Given the description of an element on the screen output the (x, y) to click on. 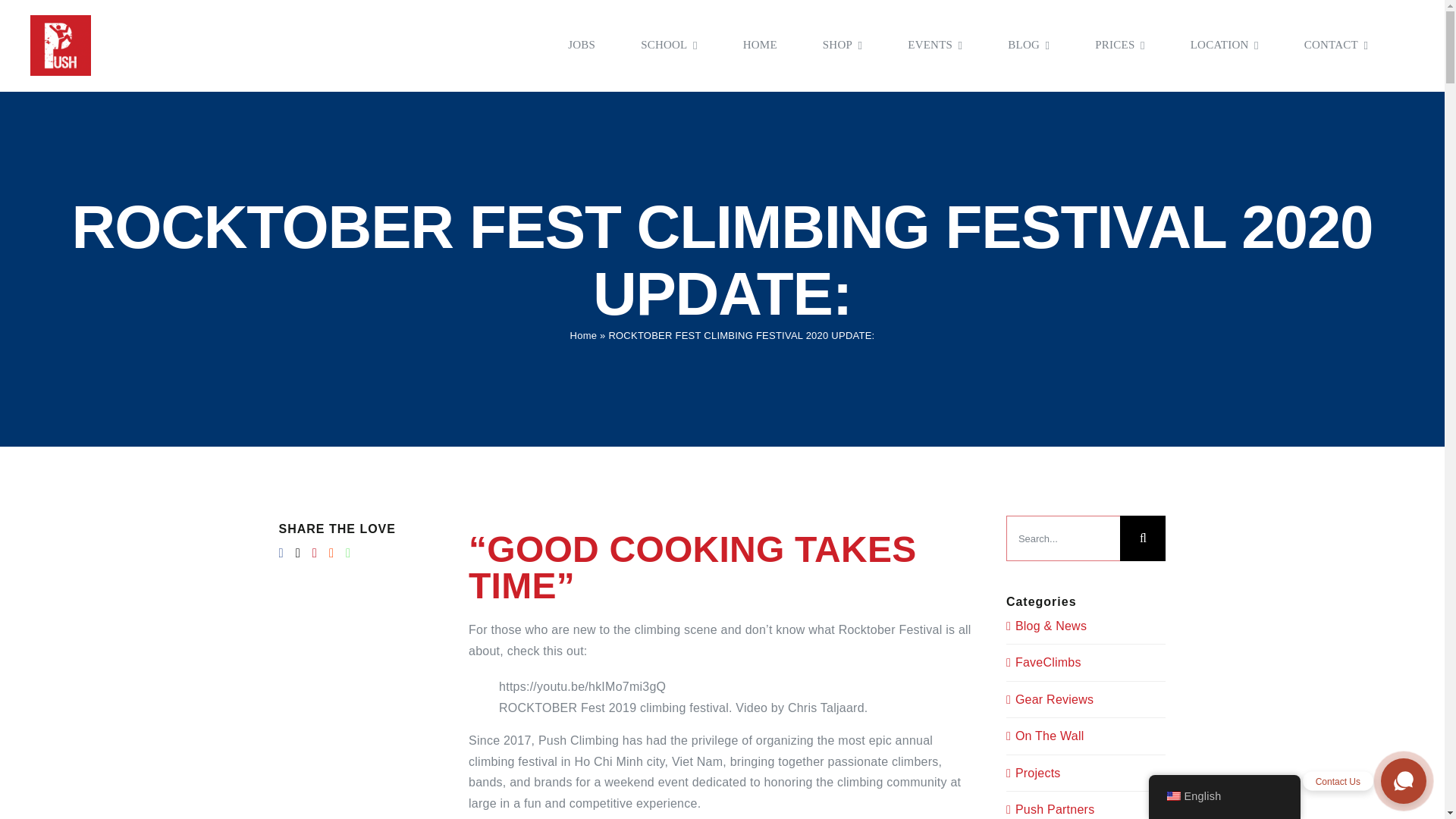
EVENTS (934, 44)
LOCATION (1225, 44)
BLOG (1028, 44)
CONTACT (1336, 44)
PRICES (1119, 44)
SCHOOL (668, 44)
Home (583, 335)
